Given the description of an element on the screen output the (x, y) to click on. 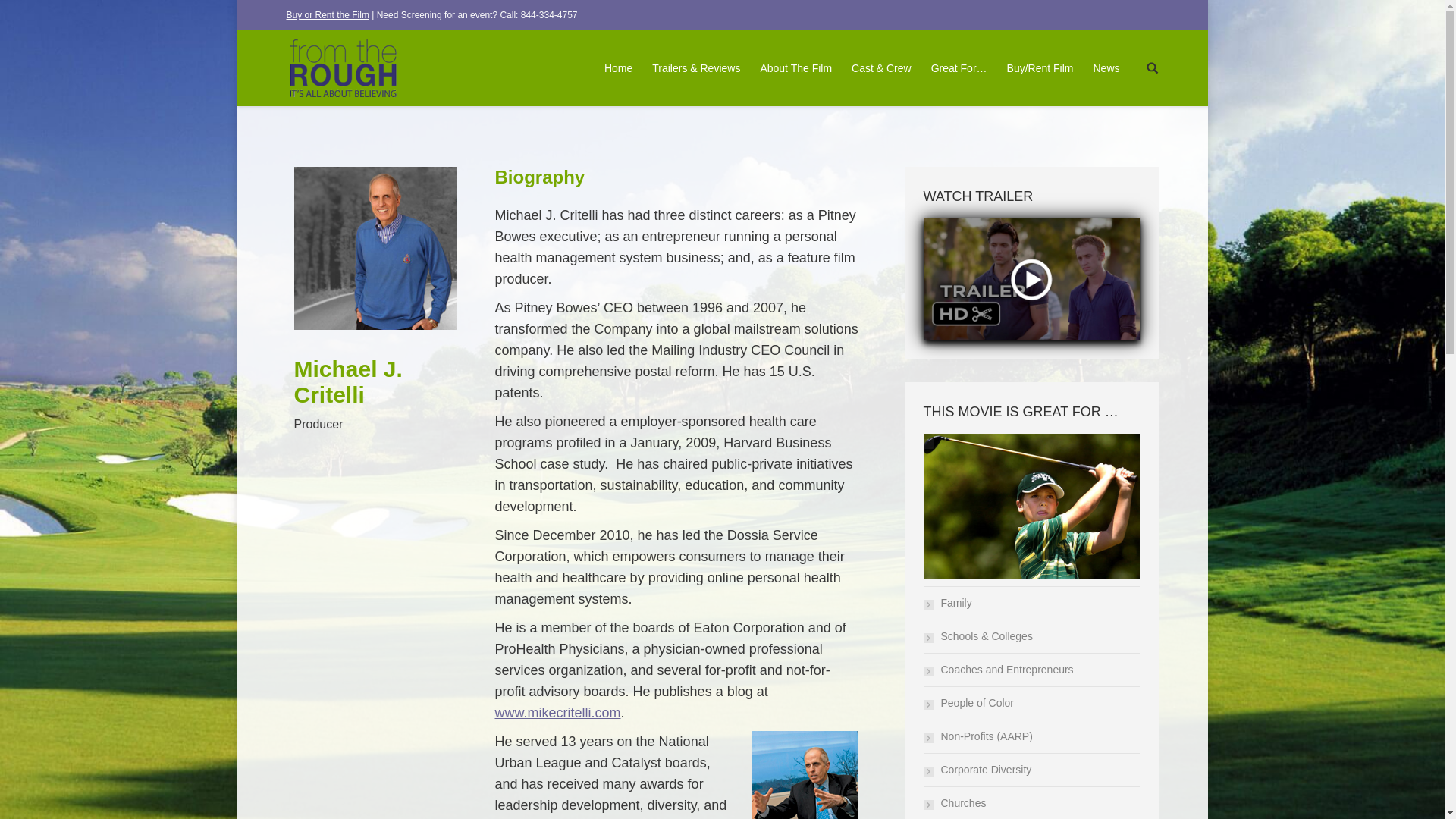
Go! (19, 15)
About The Film (796, 68)
Home (618, 68)
Buy or Rent the Film (327, 14)
Buy or Rent the Film (327, 14)
News (1105, 68)
